Given the description of an element on the screen output the (x, y) to click on. 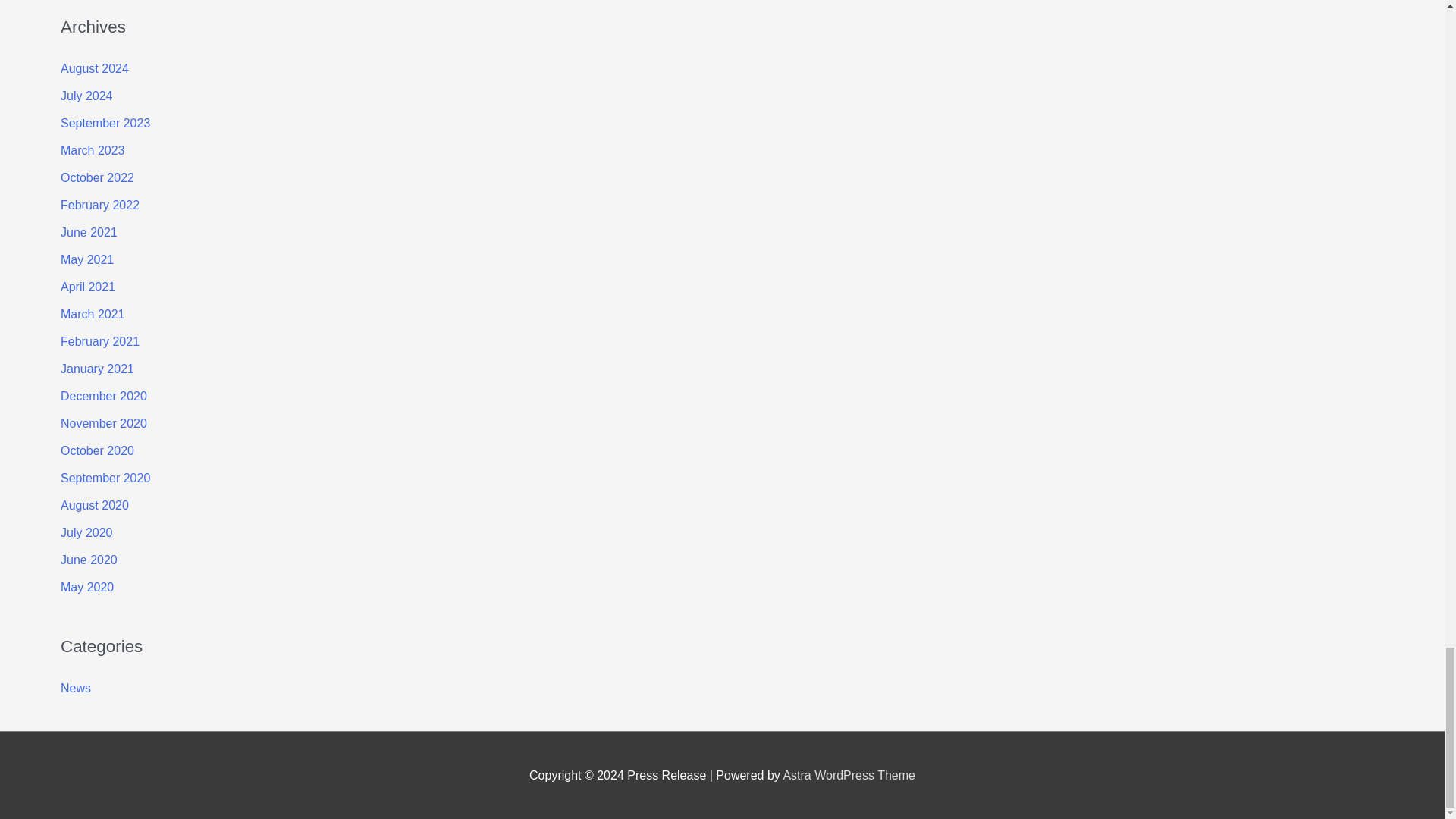
July 2024 (87, 95)
August 2024 (95, 68)
March 2023 (93, 150)
October 2022 (97, 177)
September 2023 (105, 123)
